Given the description of an element on the screen output the (x, y) to click on. 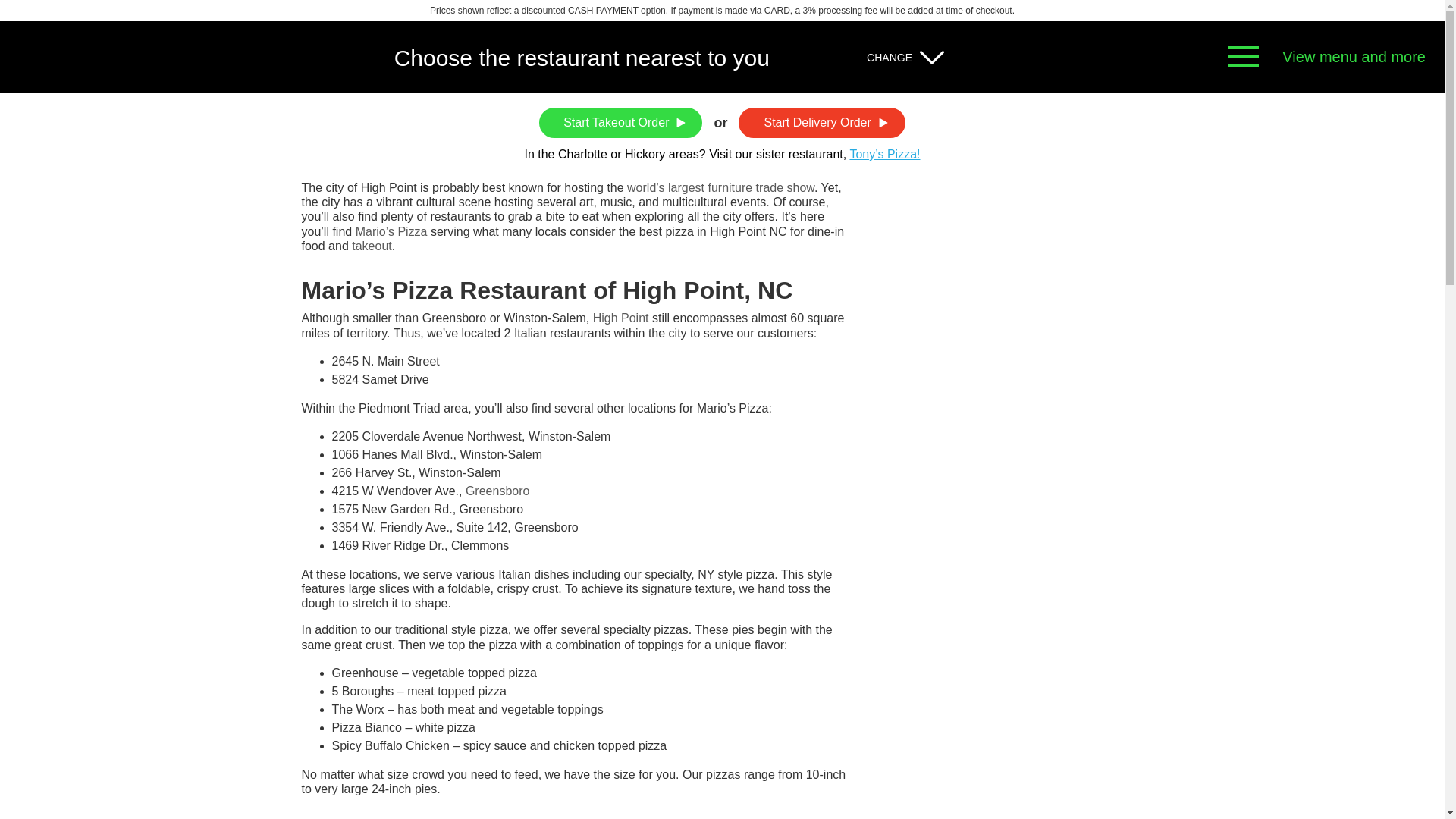
Mario's Big Pizza (83, 56)
